Given the description of an element on the screen output the (x, y) to click on. 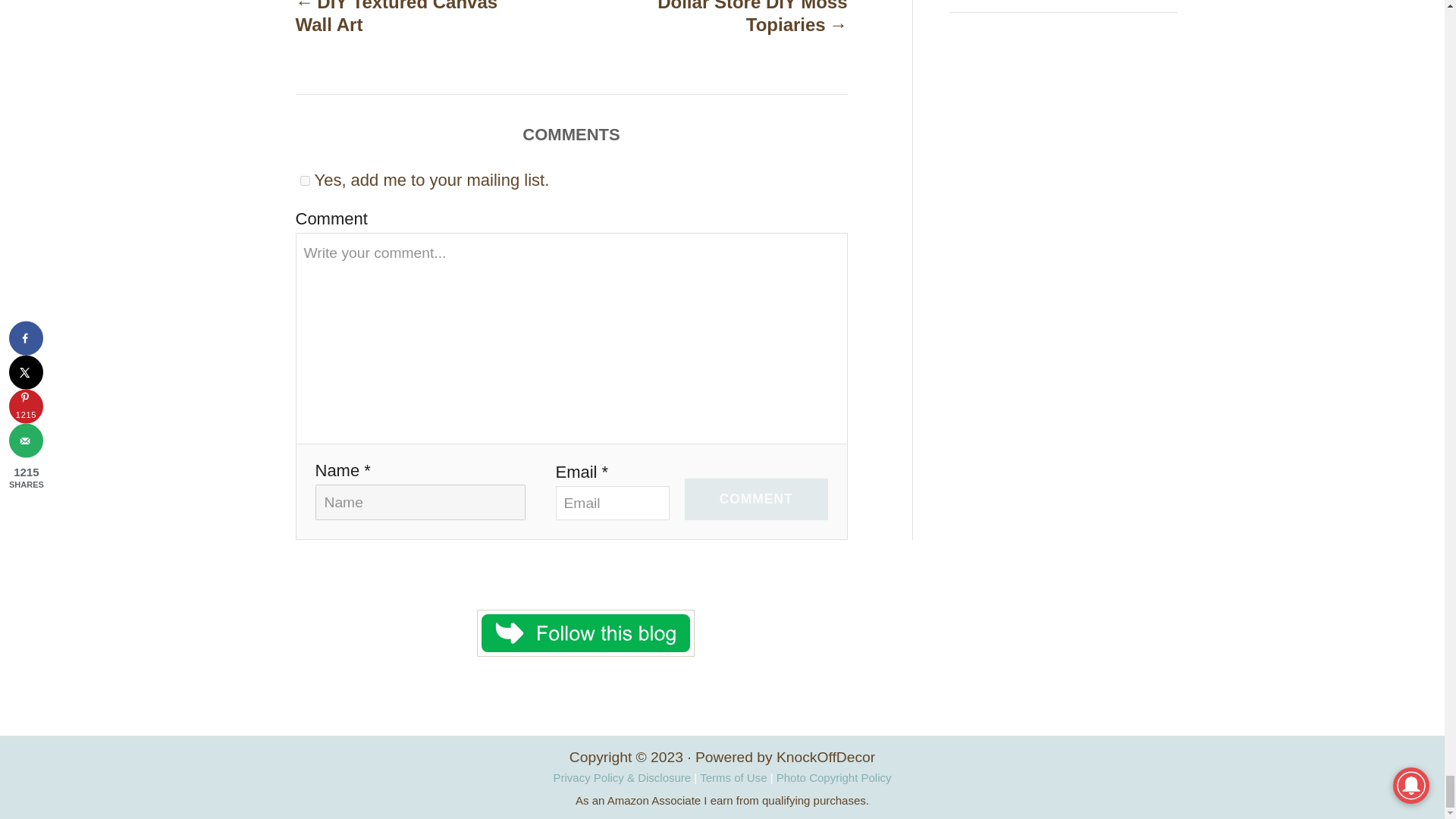
1 (304, 180)
